Given the description of an element on the screen output the (x, y) to click on. 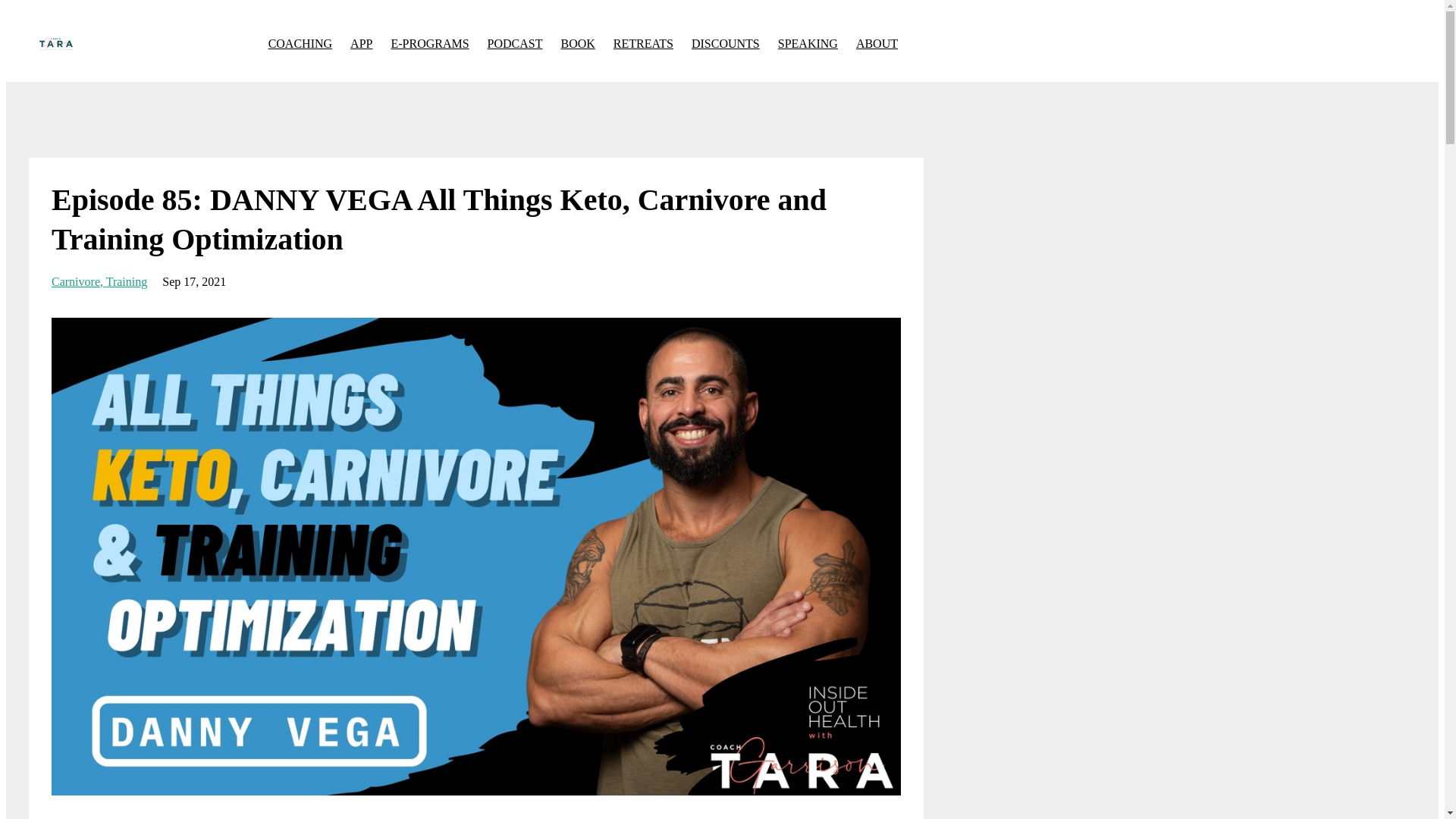
Carnivore (78, 281)
RETREATS (642, 43)
PODCAST (515, 43)
E-PROGRAMS (429, 43)
SPEAKING (807, 43)
BOOK (577, 43)
Training (127, 281)
ABOUT (877, 43)
COACHING (299, 43)
DISCOUNTS (725, 43)
